Given the description of an element on the screen output the (x, y) to click on. 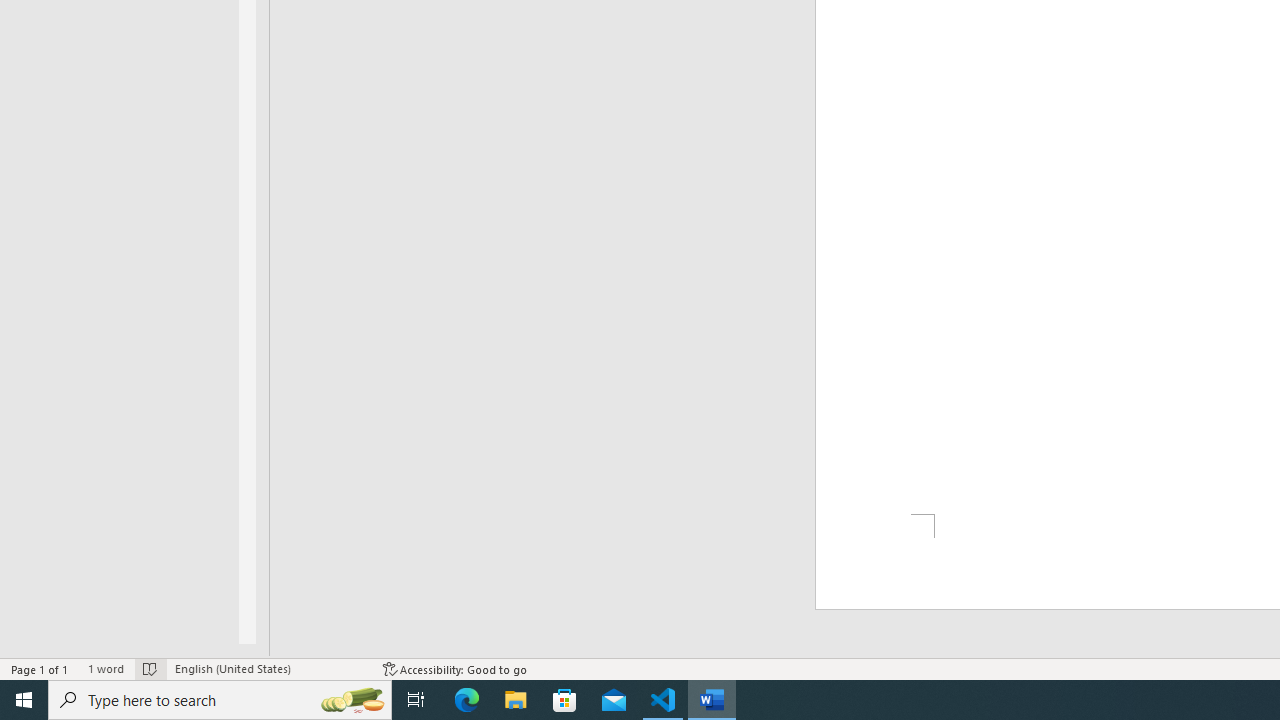
Spelling and Grammar Check No Errors (150, 668)
Page Number Page 1 of 1 (39, 668)
